Given the description of an element on the screen output the (x, y) to click on. 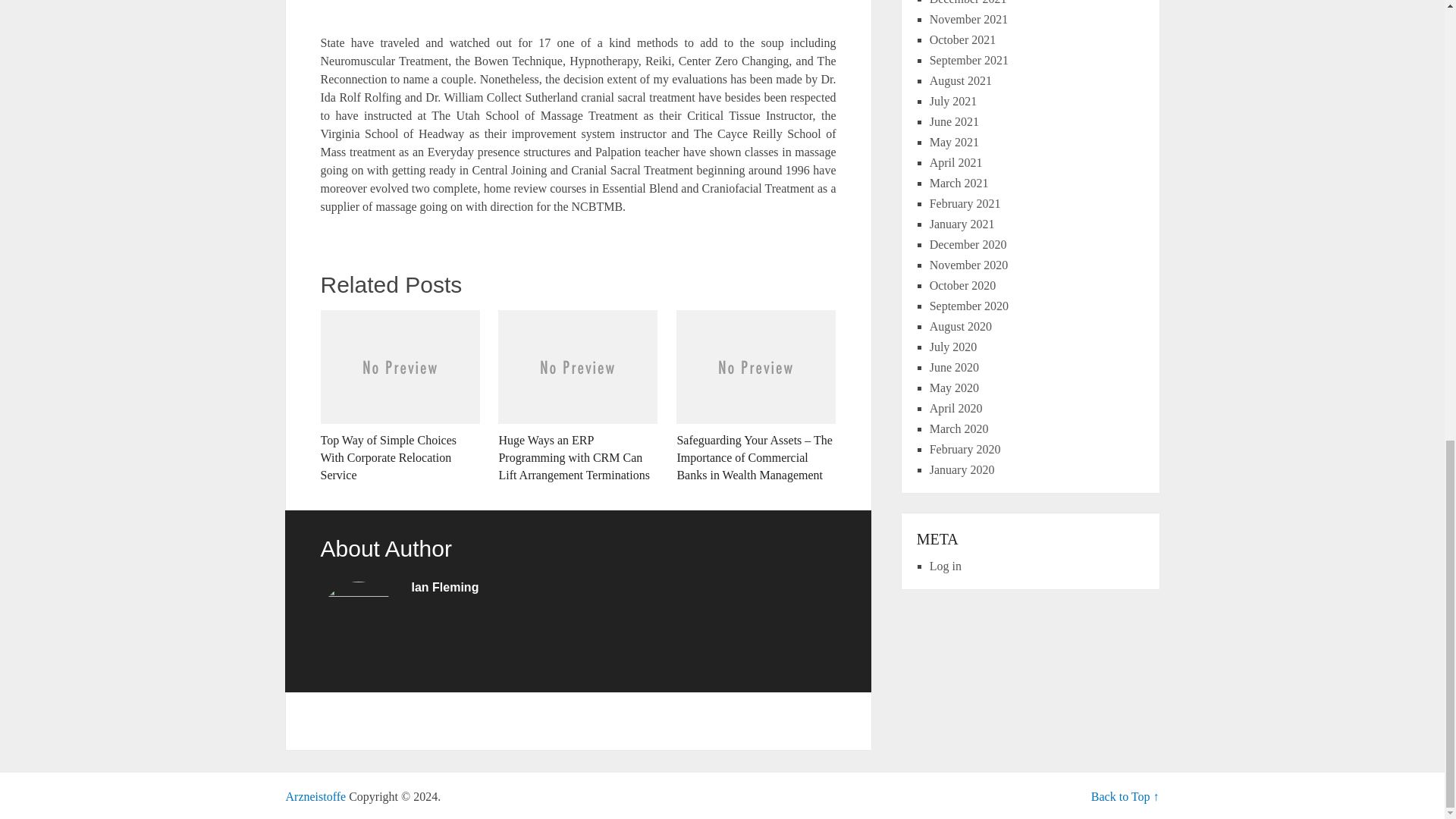
Top Way of Simple Choices With Corporate Relocation Service (399, 397)
Top Way of Simple Choices With Corporate Relocation Service (399, 397)
